Given the description of an element on the screen output the (x, y) to click on. 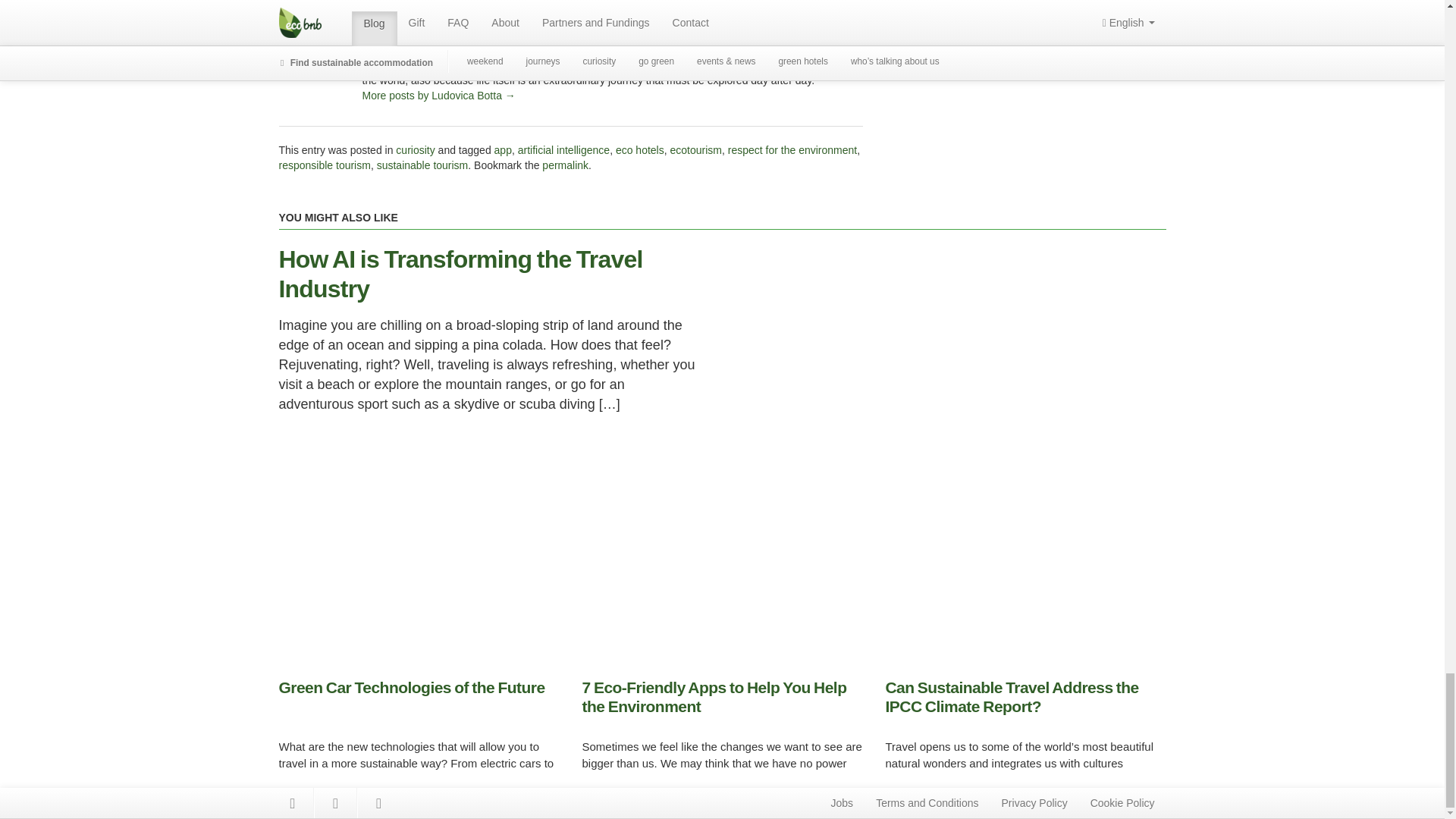
app (503, 150)
curiosity (414, 150)
